Given the description of an element on the screen output the (x, y) to click on. 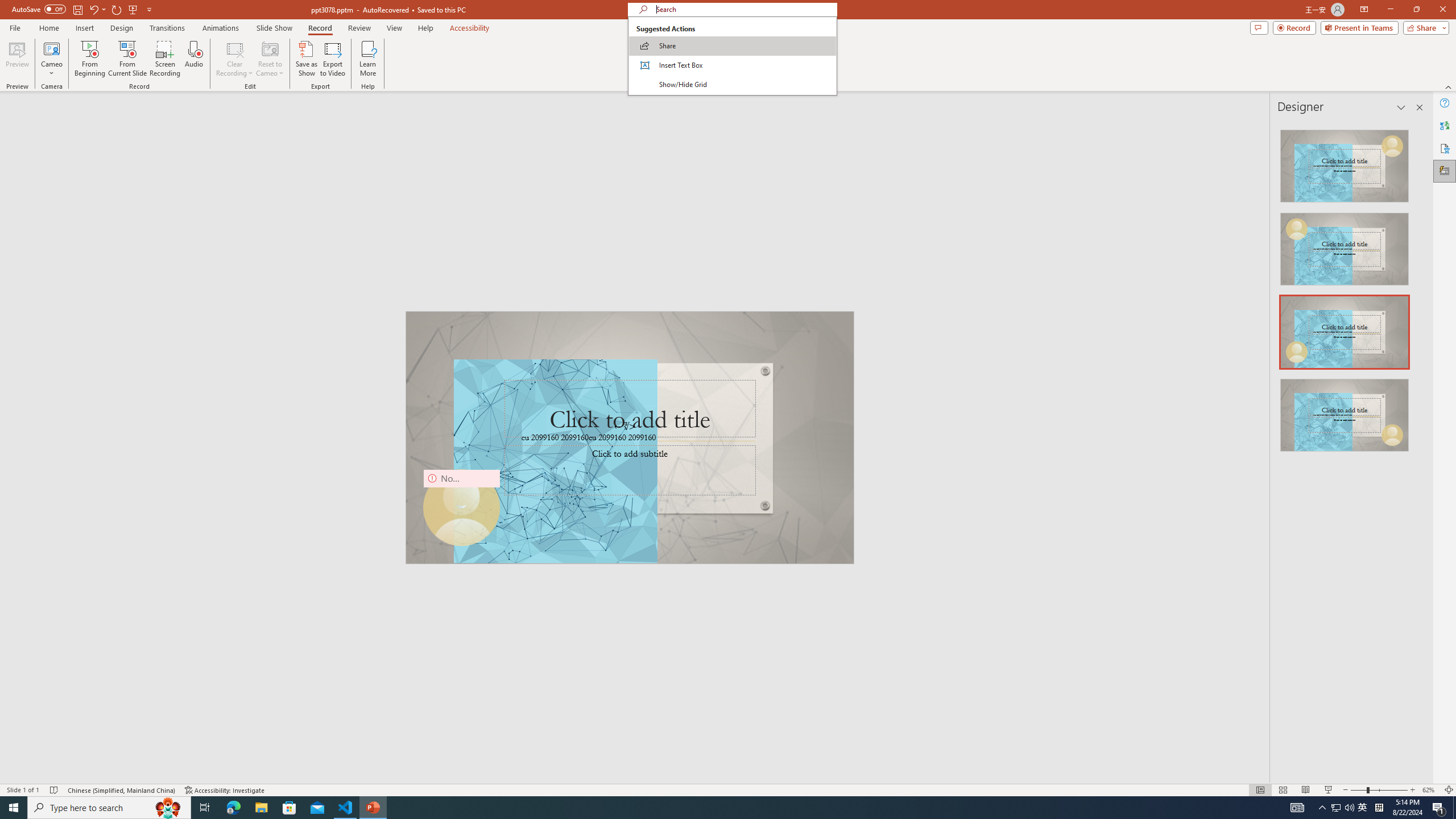
TextBox 61 (628, 438)
